Given the description of an element on the screen output the (x, y) to click on. 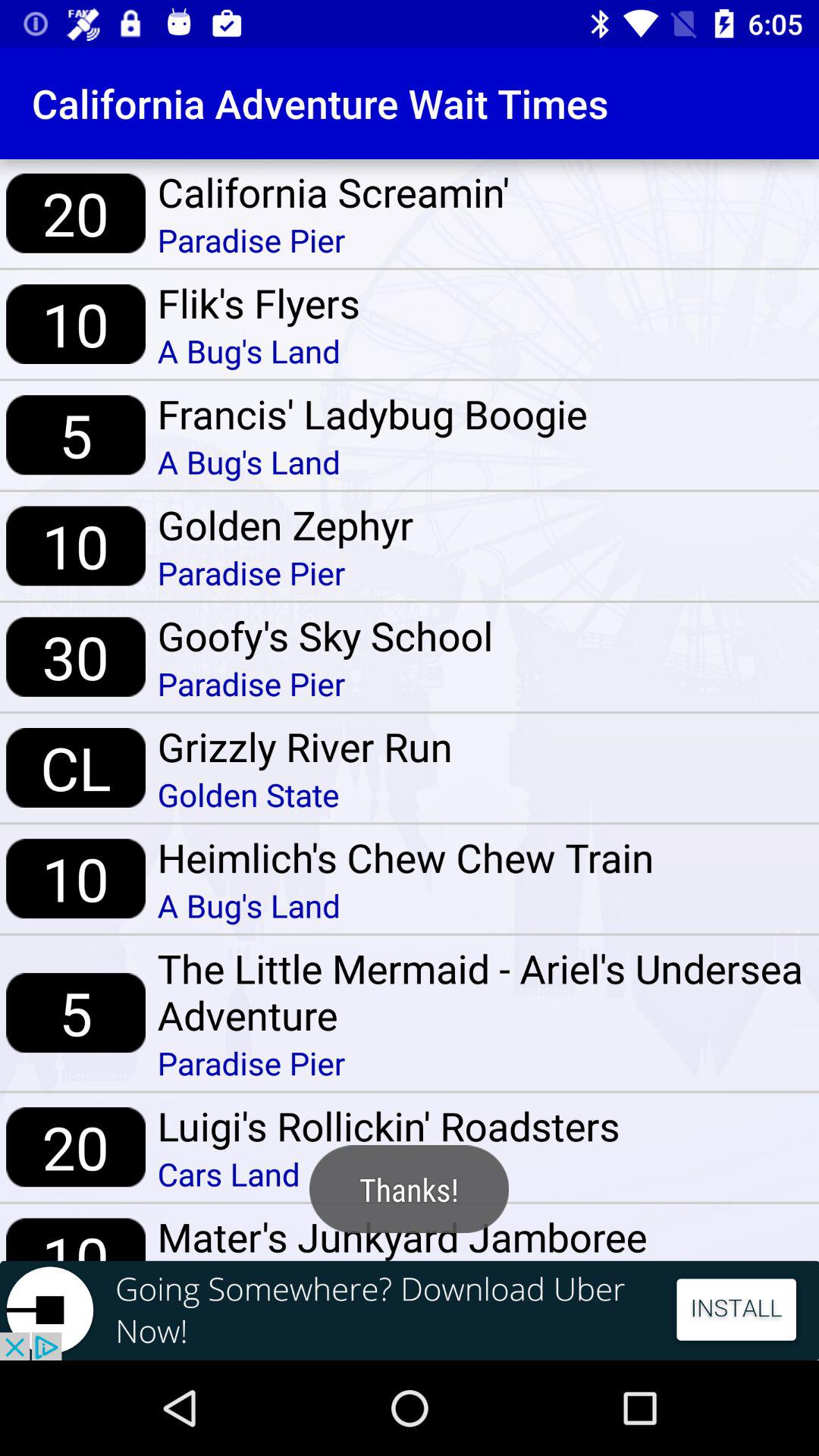
turn on item above the 10 item (75, 767)
